Given the description of an element on the screen output the (x, y) to click on. 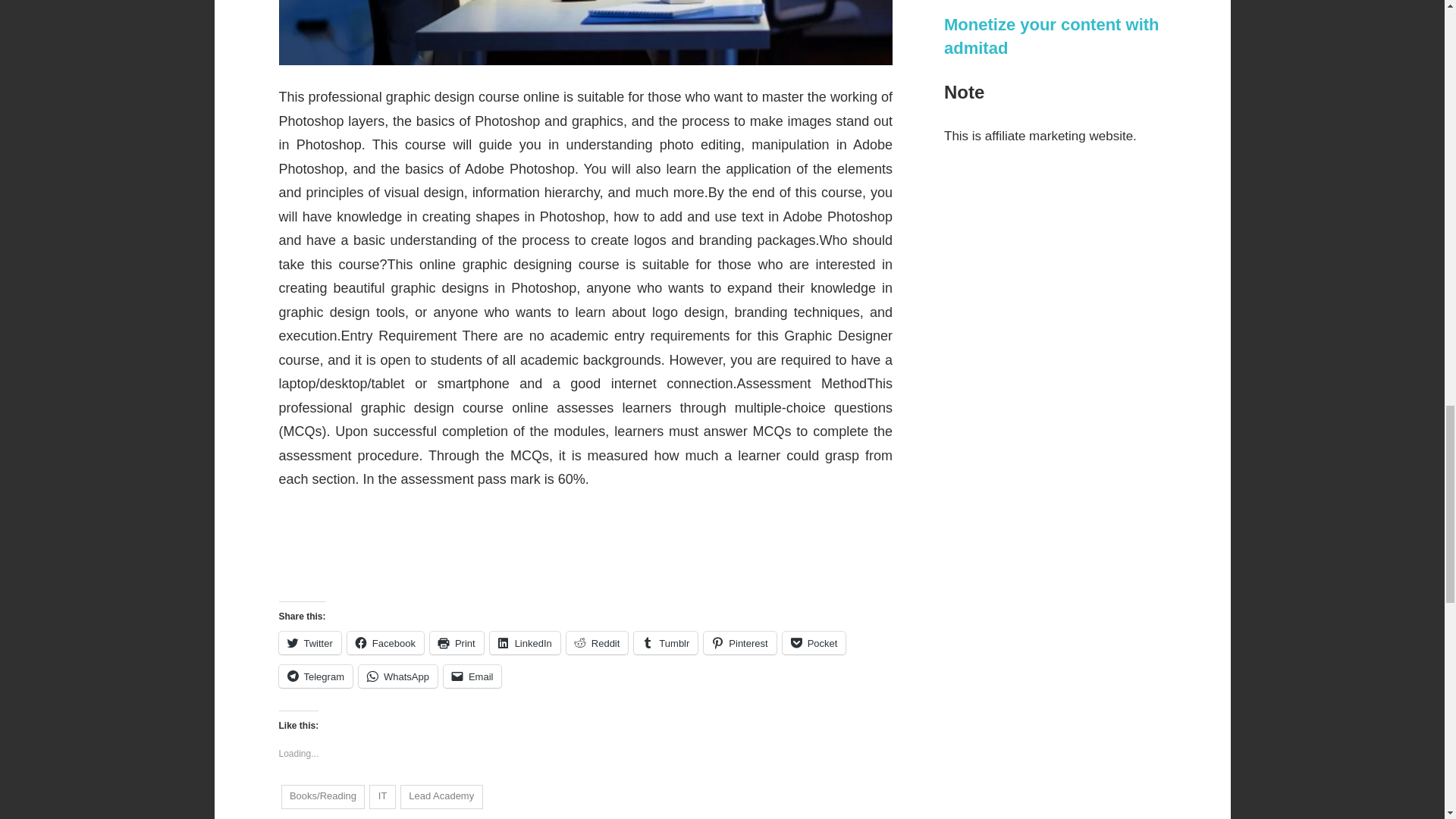
Reddit (597, 642)
LinkedIn (524, 642)
Click to share on Facebook (385, 642)
Click to share on Reddit (597, 642)
Click to share on Telegram (315, 676)
Print (456, 642)
Click to share on Pinterest (739, 642)
Click to share on Twitter (309, 642)
Click to print (456, 642)
